Given the description of an element on the screen output the (x, y) to click on. 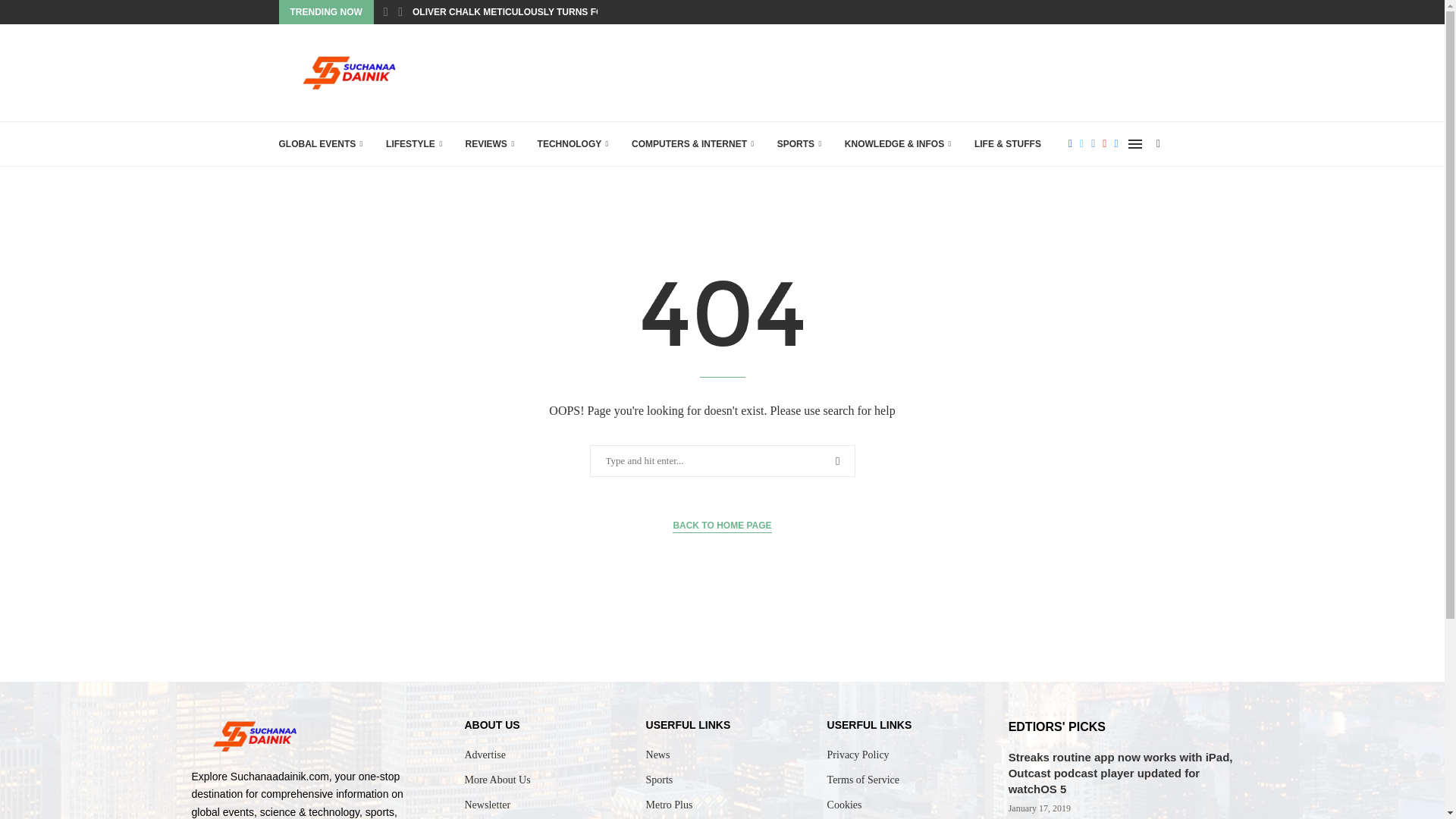
OLIVER CHALK METICULOUSLY TURNS FOUND PIECES OF TIMBER... (565, 12)
TECHNOLOGY (572, 144)
GLOBAL EVENTS (321, 144)
LIFESTYLE (413, 144)
SPORTS (799, 144)
REVIEWS (488, 144)
